Given the description of an element on the screen output the (x, y) to click on. 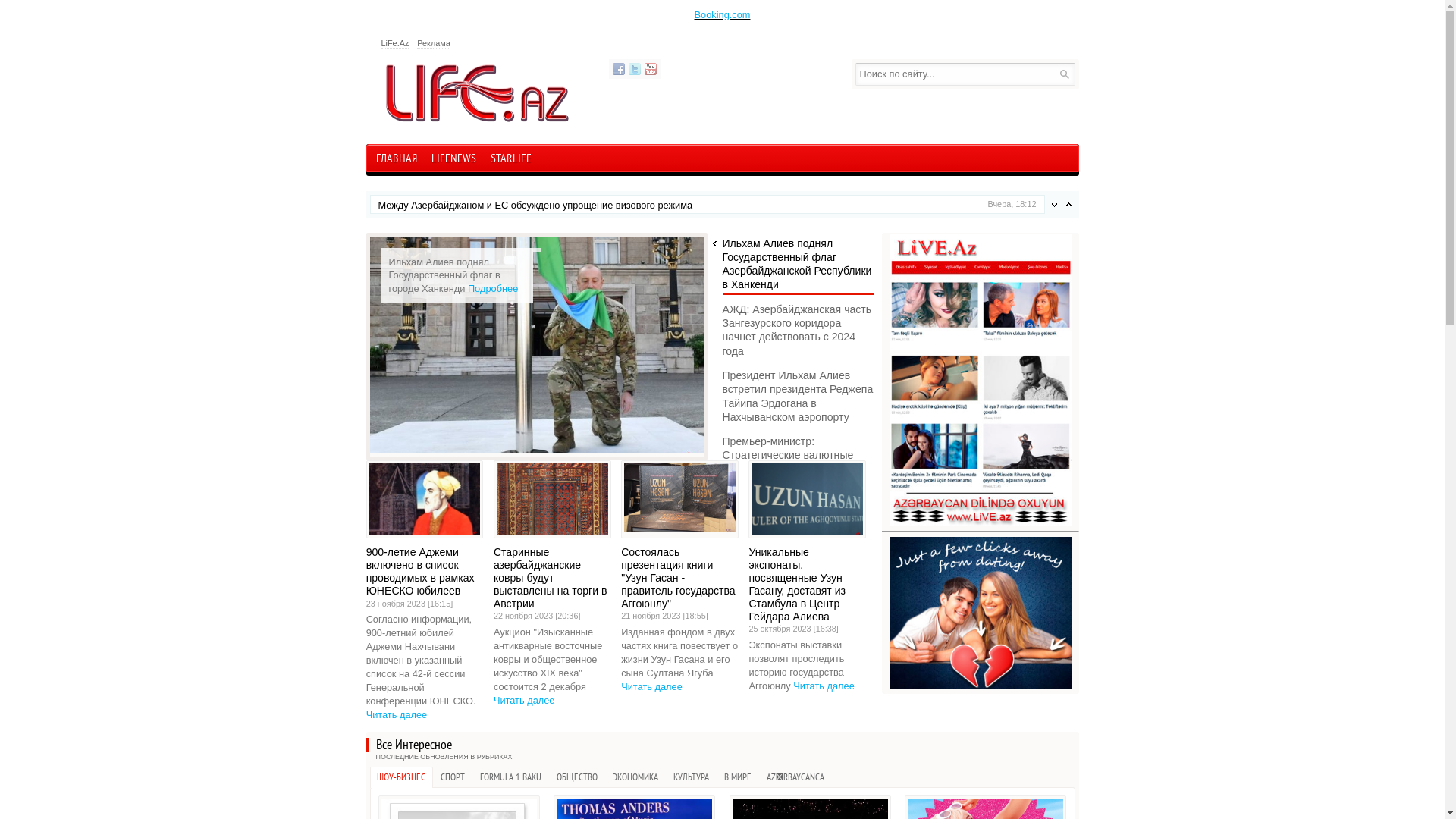
LiFe.Az Element type: text (394, 43)
Twitter Element type: hover (633, 68)
FORMULA 1 BAKU Element type: text (510, 776)
Booking.com Element type: text (722, 14)
YouTube Element type: hover (650, 68)
Facebook Element type: hover (618, 68)
LIFENEWS Element type: text (453, 159)
STARLIFE Element type: text (510, 159)
